Given the description of an element on the screen output the (x, y) to click on. 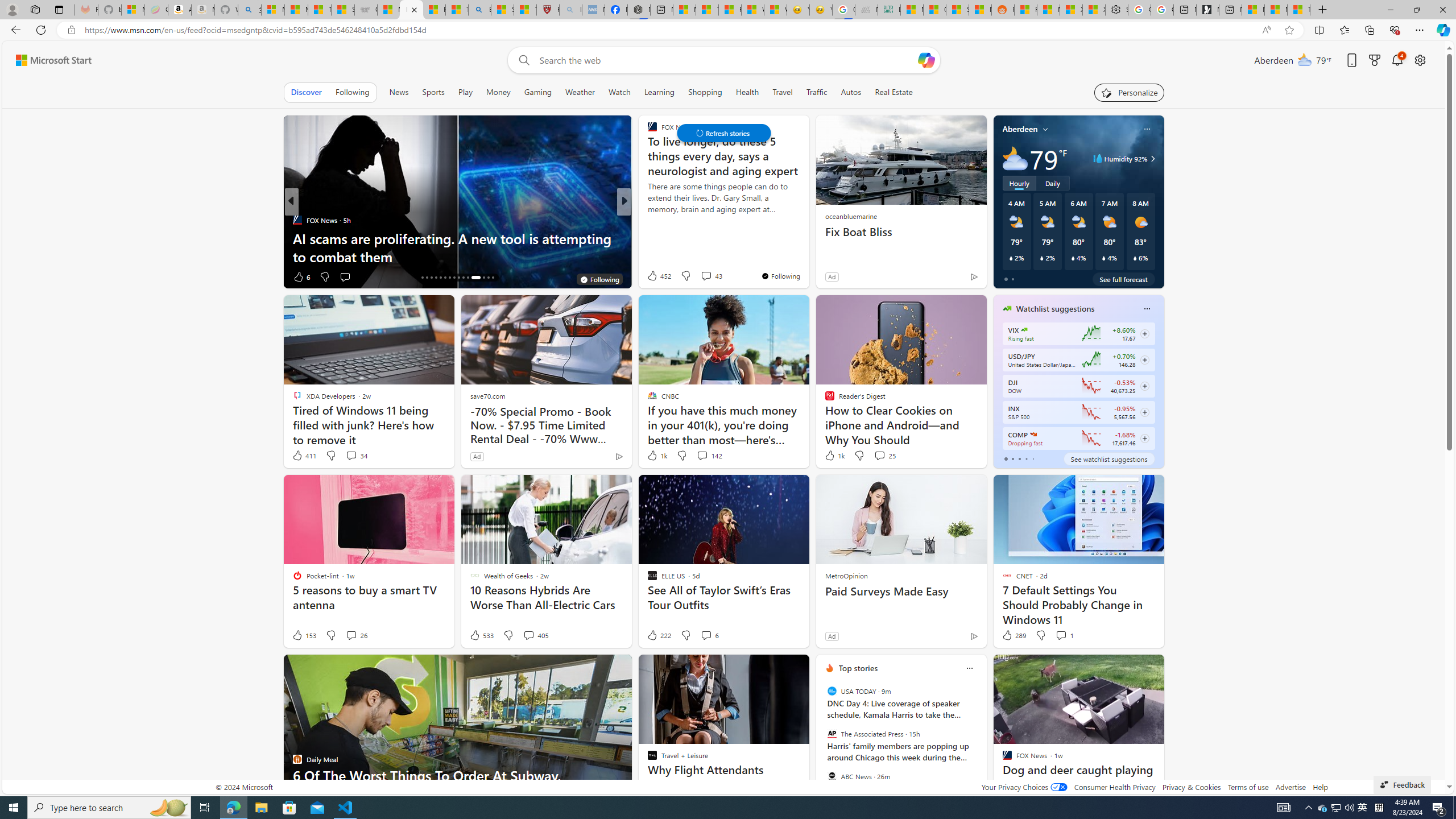
Humidity 92% (1150, 158)
Mostly cloudy (1014, 158)
See full forecast (1123, 278)
452 Like (658, 275)
Hide this story (1007, 668)
